Given the description of an element on the screen output the (x, y) to click on. 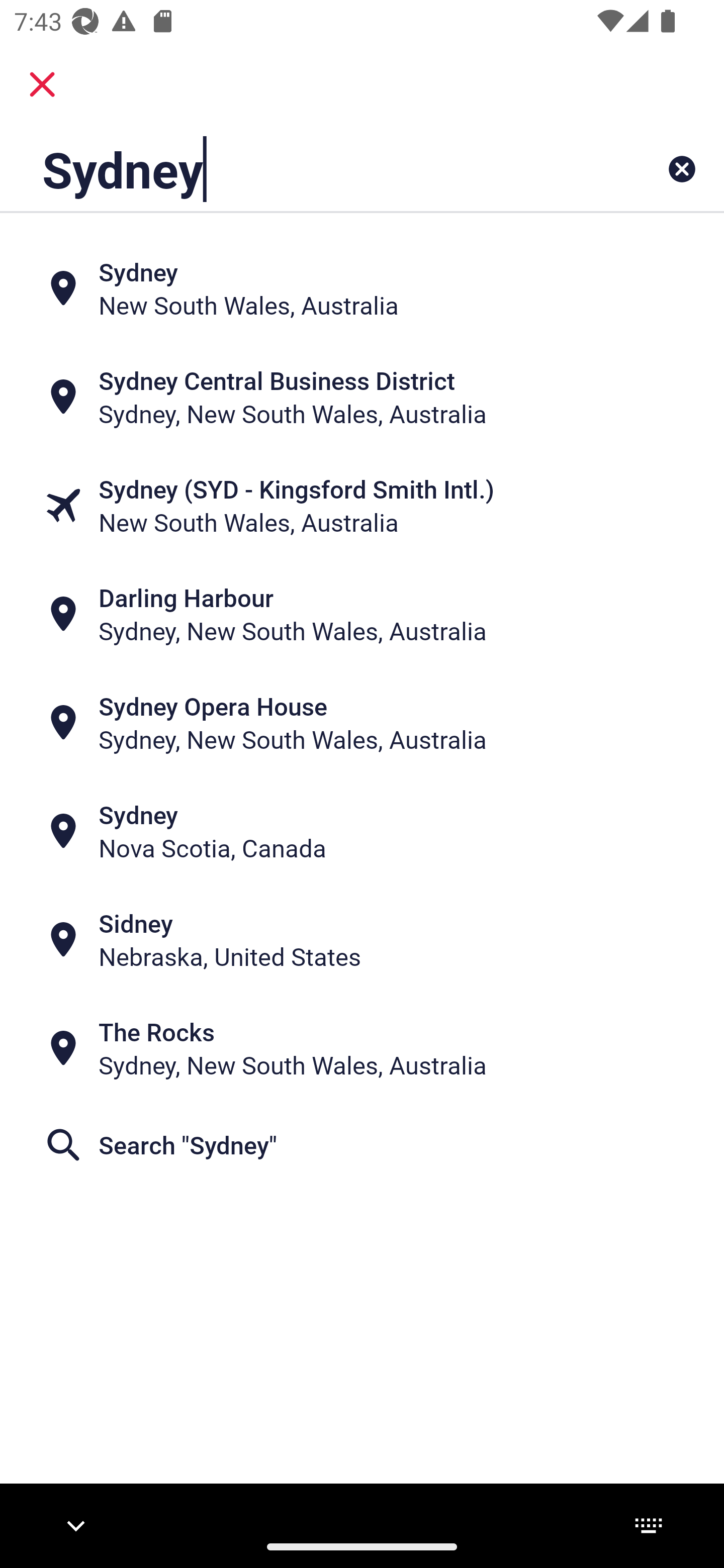
close. (42, 84)
Clear (681, 169)
Sydney (298, 169)
Sydney New South Wales, Australia (362, 288)
Darling Harbour Sydney, New South Wales, Australia (362, 613)
Sydney Nova Scotia, Canada (362, 831)
Sidney Nebraska, United States (362, 939)
The Rocks Sydney, New South Wales, Australia (362, 1048)
Search "Sydney" (362, 1144)
